Given the description of an element on the screen output the (x, y) to click on. 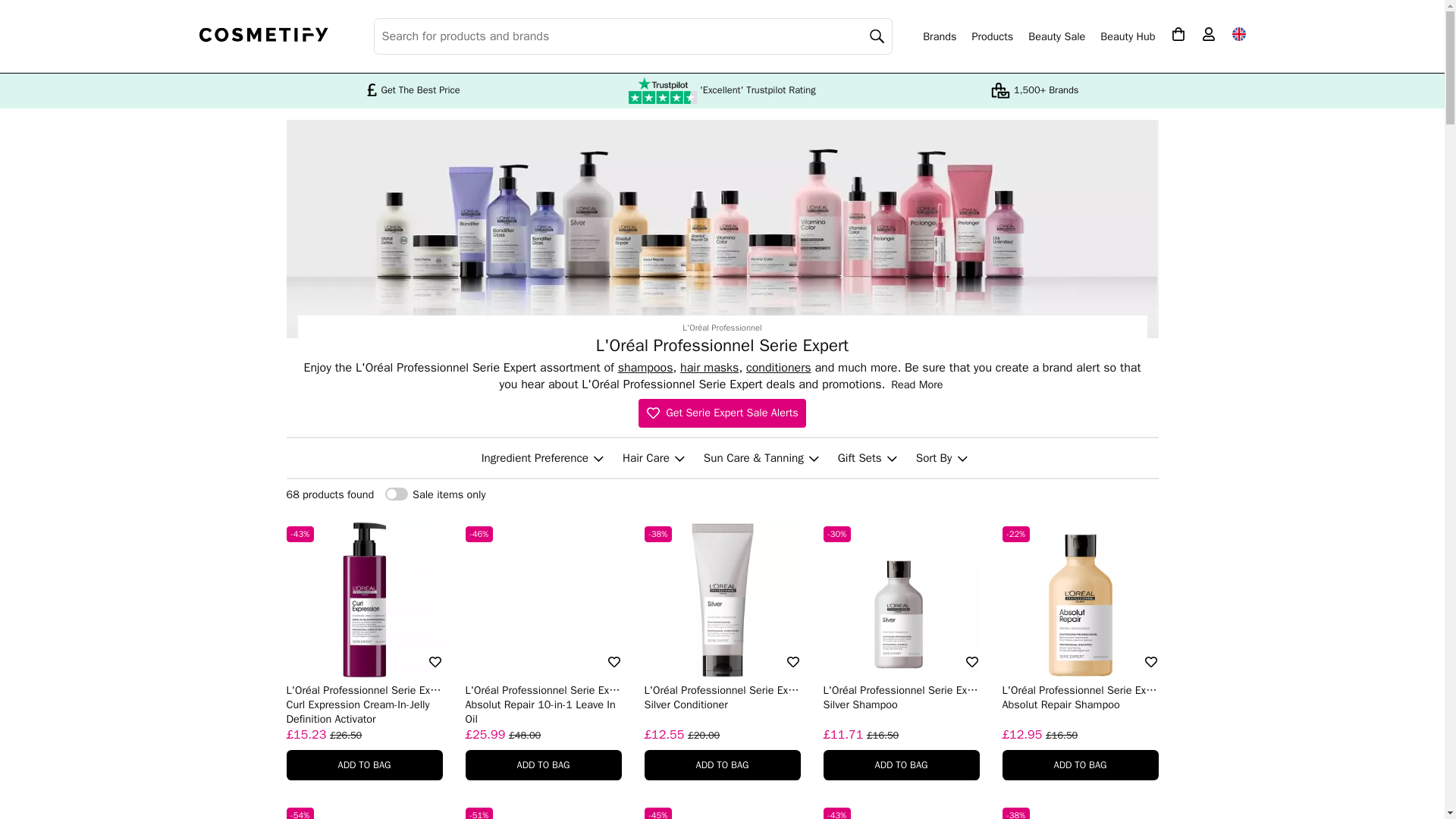
Brands (939, 36)
Beauty Sale (1055, 36)
Beauty Hub (1127, 36)
Products (992, 36)
